Given the description of an element on the screen output the (x, y) to click on. 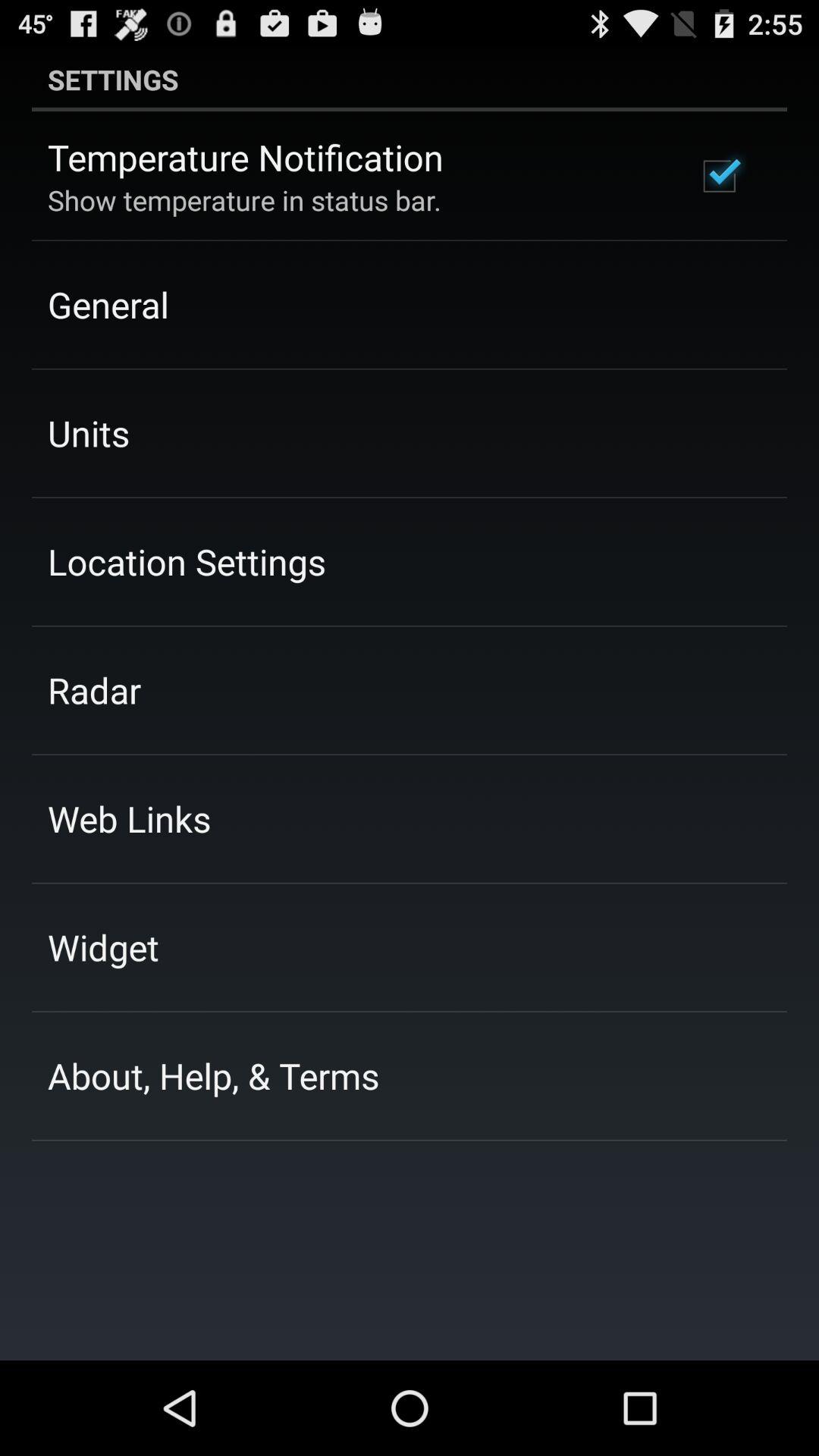
tap the show temperature in item (244, 199)
